Given the description of an element on the screen output the (x, y) to click on. 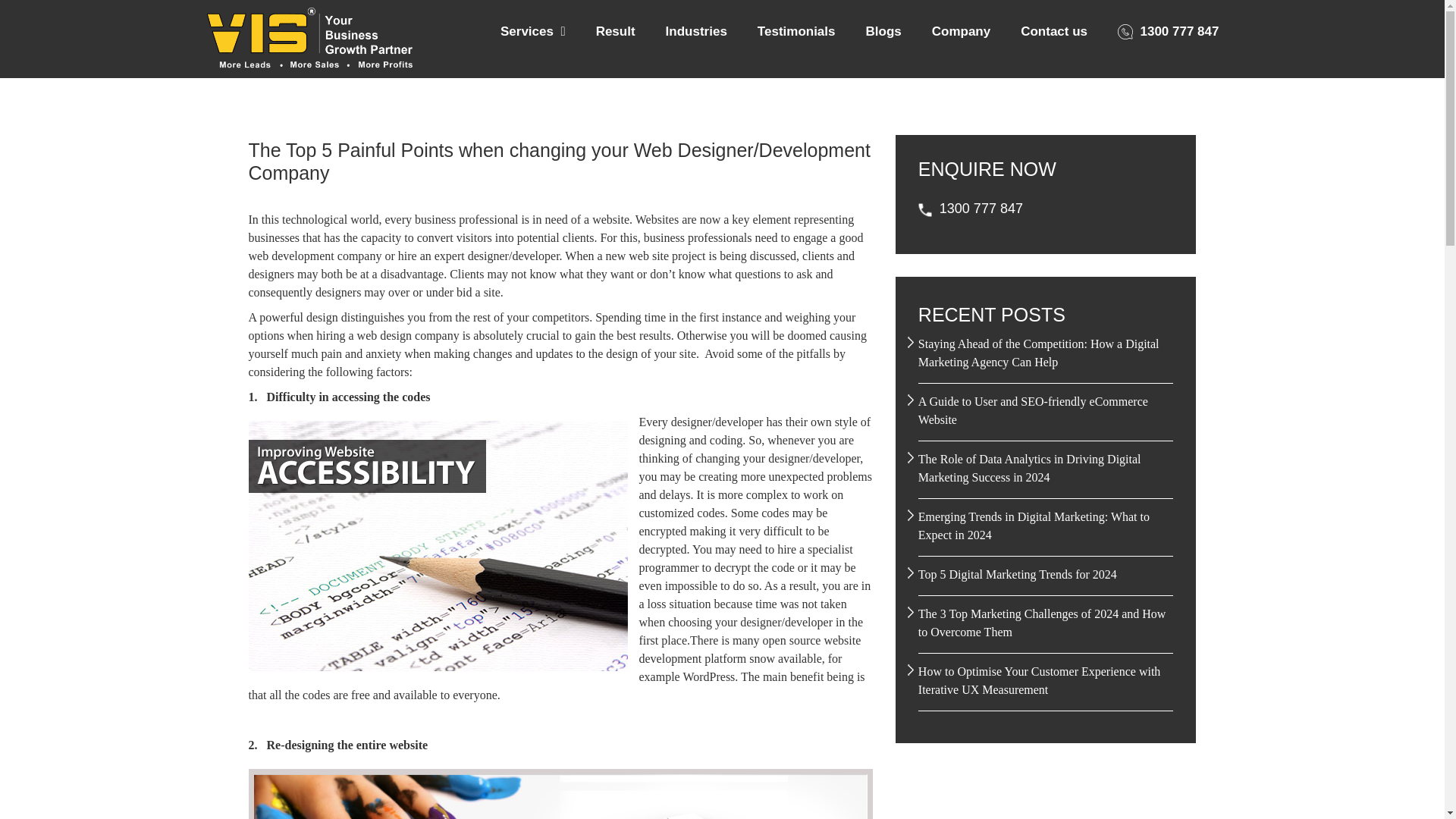
Blogs (882, 31)
  1300 777 847 (1168, 31)
Industries (695, 31)
Services   (532, 31)
Contact us (1054, 31)
Testimonials (796, 31)
Result (615, 31)
Company (960, 31)
